Given the description of an element on the screen output the (x, y) to click on. 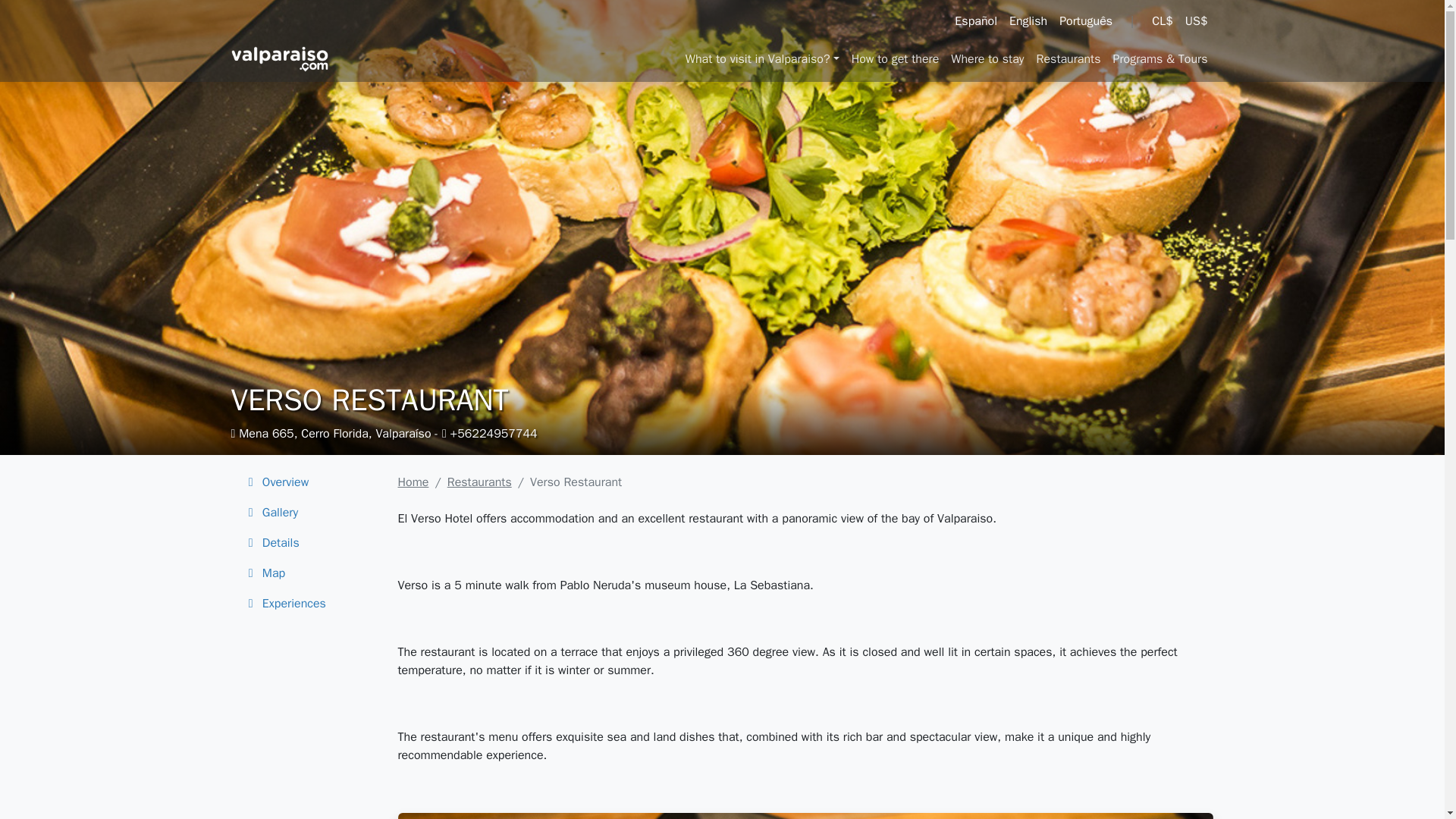
Restaurants (1068, 59)
Previous (458, 816)
Restaurants (479, 482)
Details (304, 542)
Experiences (304, 603)
What to visit in Valparaiso? (762, 59)
Home (412, 482)
Gallery (304, 512)
Home (412, 482)
Next (1151, 816)
